Given the description of an element on the screen output the (x, y) to click on. 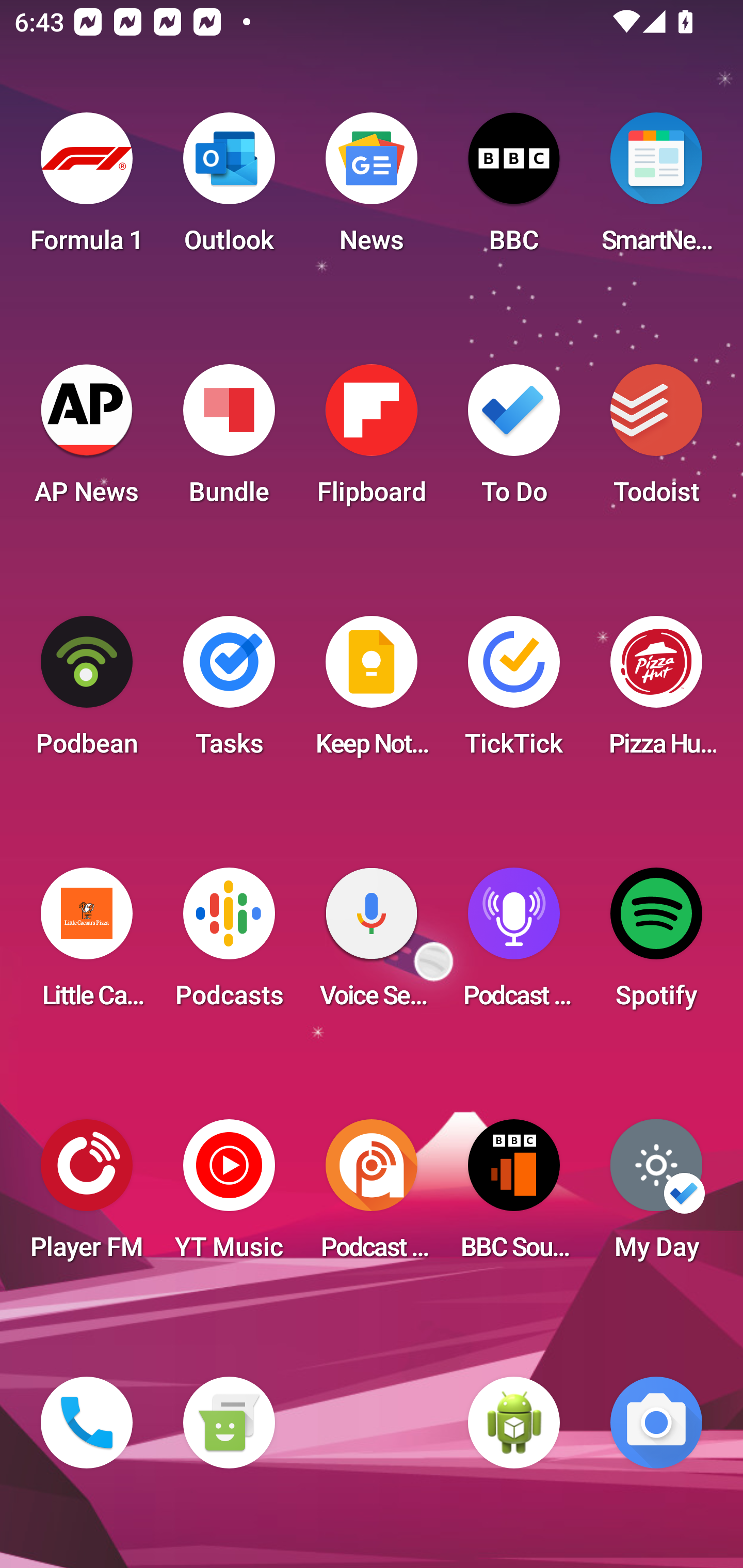
Formula 1 (86, 188)
Outlook (228, 188)
News (371, 188)
BBC (513, 188)
SmartNews (656, 188)
AP News (86, 440)
Bundle (228, 440)
Flipboard (371, 440)
To Do (513, 440)
Todoist (656, 440)
Podbean (86, 692)
Tasks (228, 692)
Keep Notes (371, 692)
TickTick (513, 692)
Pizza Hut HK & Macau (656, 692)
Little Caesars Pizza (86, 943)
Podcasts (228, 943)
Voice Search (371, 943)
Podcast Player (513, 943)
Spotify (656, 943)
Player FM (86, 1195)
YT Music (228, 1195)
Podcast Addict (371, 1195)
BBC Sounds (513, 1195)
My Day (656, 1195)
Phone (86, 1422)
Messaging (228, 1422)
WebView Browser Tester (513, 1422)
Camera (656, 1422)
